Given the description of an element on the screen output the (x, y) to click on. 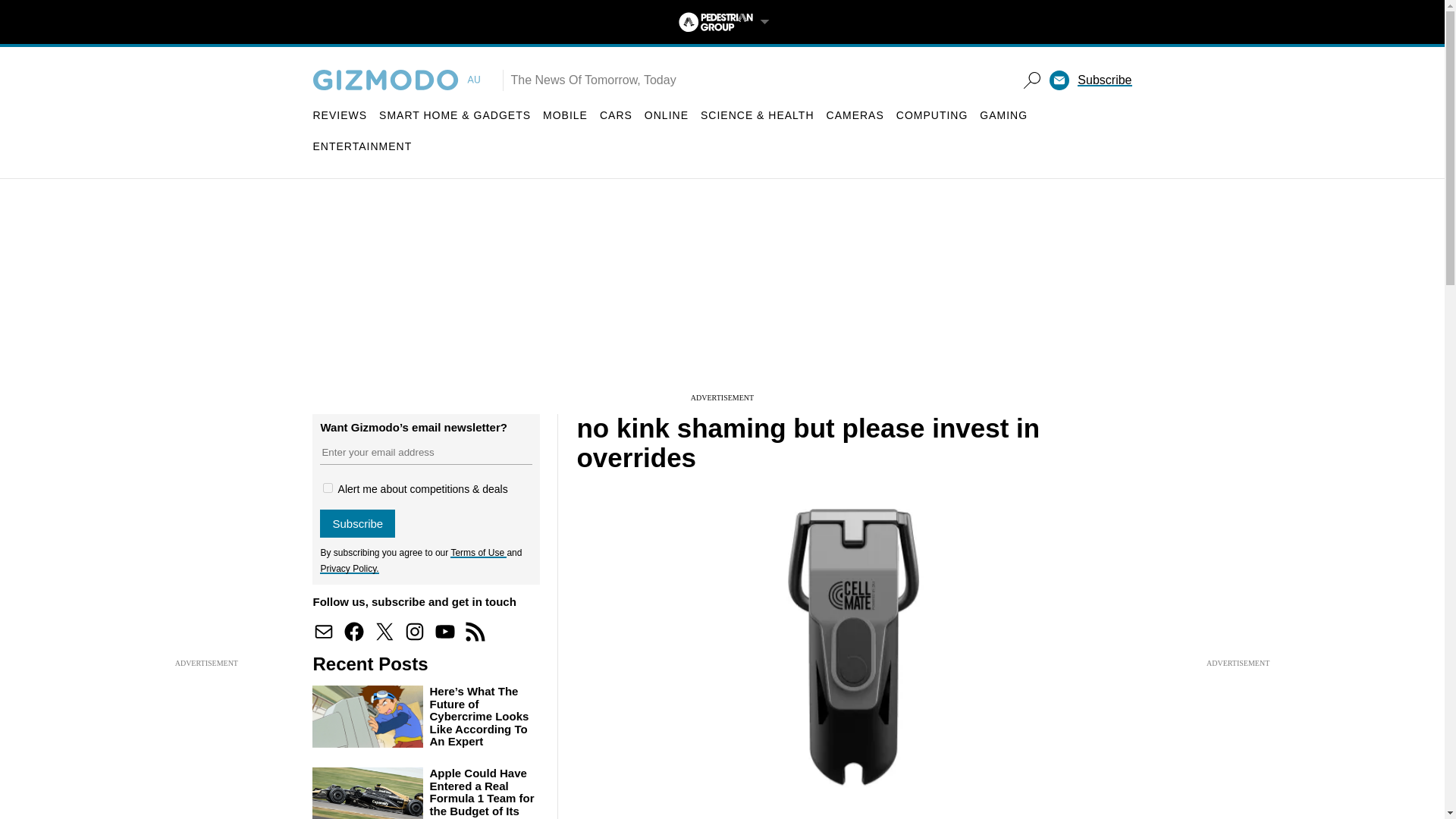
CAMERAS (855, 115)
ENTERTAINMENT (362, 145)
MOBILE (565, 115)
Subscribe (1104, 79)
ONLINE (666, 115)
GAMING (1003, 115)
CARS (615, 115)
REVIEWS (339, 115)
Subscribe (357, 523)
COMPUTING (932, 115)
